Given the description of an element on the screen output the (x, y) to click on. 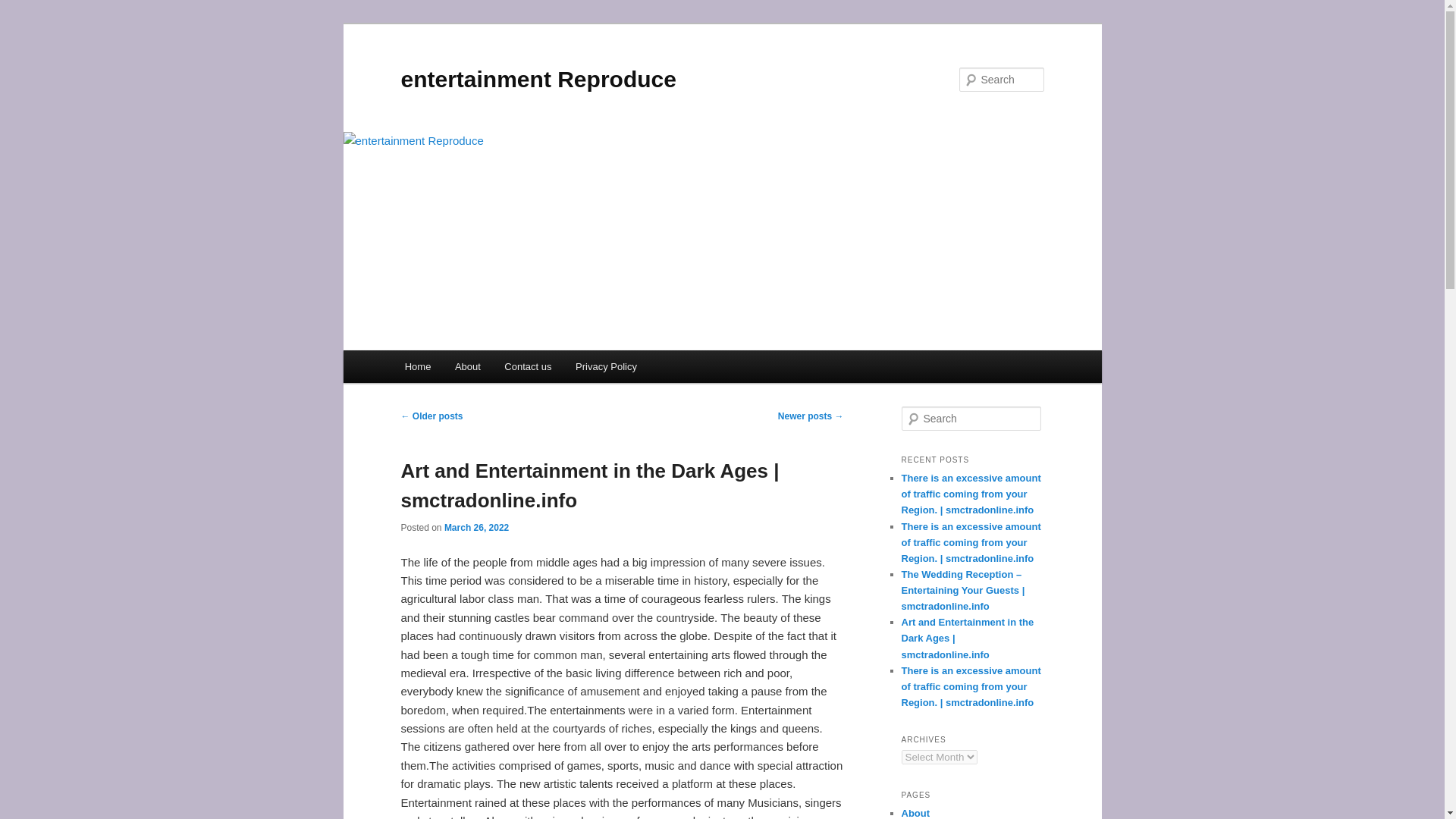
Privacy Policy (605, 366)
Search (21, 11)
Contact us (528, 366)
Home (417, 366)
entertainment Reproduce (537, 78)
10:11 pm (476, 527)
Search (24, 8)
About (467, 366)
March 26, 2022 (476, 527)
